Given the description of an element on the screen output the (x, y) to click on. 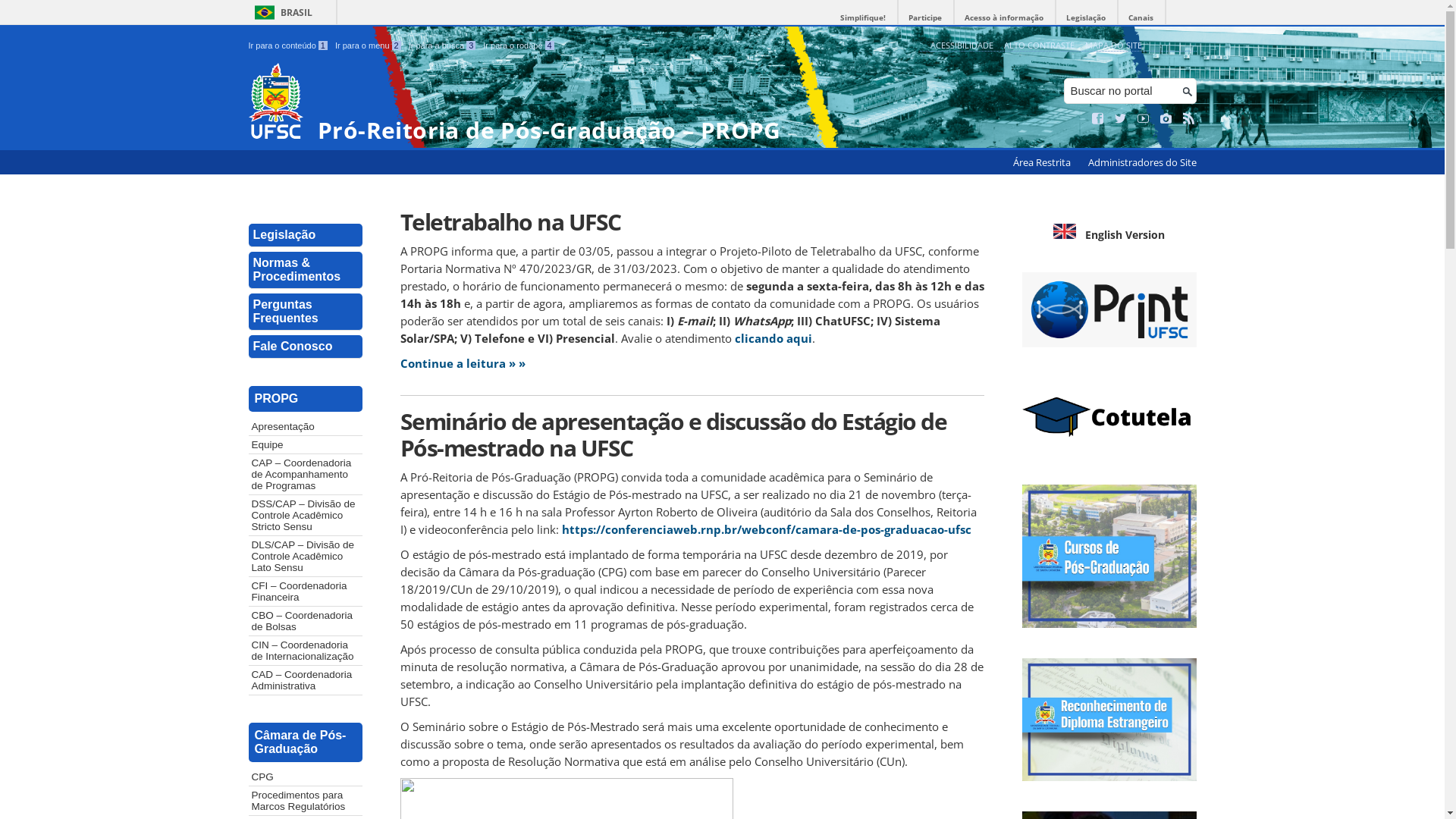
Teletrabalho na UFSC Element type: text (692, 221)
MAPA DO SITE Element type: text (1112, 44)
Siga no Twitter Element type: hover (1120, 118)
Ir para o menu 2 Element type: text (368, 45)
Administradores do Site Element type: text (1141, 162)
clicando aqui Element type: text (772, 337)
Veja no Instagram Element type: hover (1166, 118)
CPG Element type: text (305, 776)
Canais Element type: text (1140, 18)
Ir para a busca 3 Element type: text (442, 45)
Simplifique! Element type: text (862, 18)
Fale Conosco Element type: text (305, 346)
Perguntas Frequentes Element type: text (305, 311)
Participe Element type: text (924, 18)
ACESSIBILIDADE Element type: text (960, 44)
ALTO CONTRASTE Element type: text (1039, 44)
BRASIL Element type: text (280, 12)
Normas & Procedimentos Element type: text (305, 269)
Curta no Facebook Element type: hover (1098, 118)
Equipe Element type: text (305, 444)
